Given the description of an element on the screen output the (x, y) to click on. 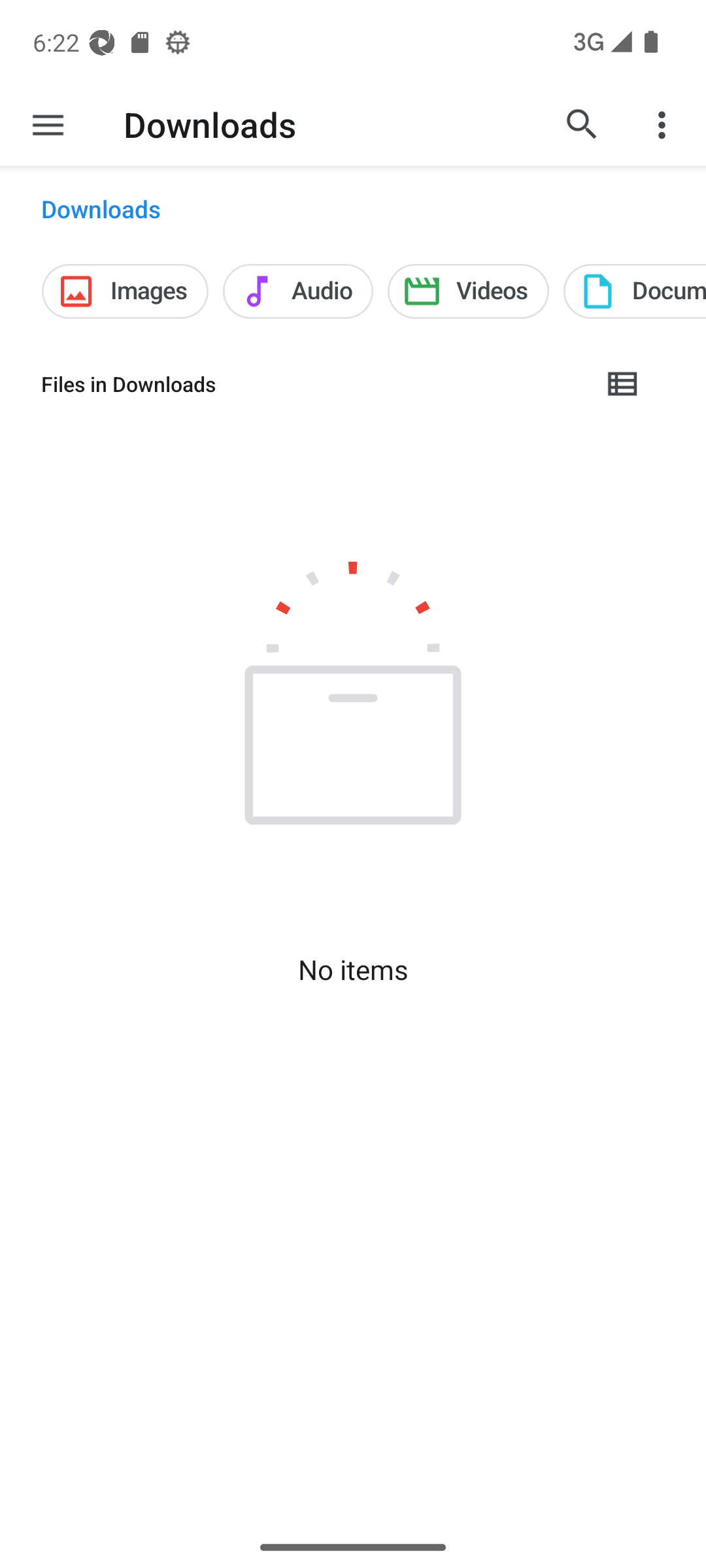
Show roots (48, 124)
Search (581, 124)
More options (664, 124)
Images (124, 291)
Audio (298, 291)
Videos (468, 291)
Documents (634, 291)
List view (623, 383)
